Given the description of an element on the screen output the (x, y) to click on. 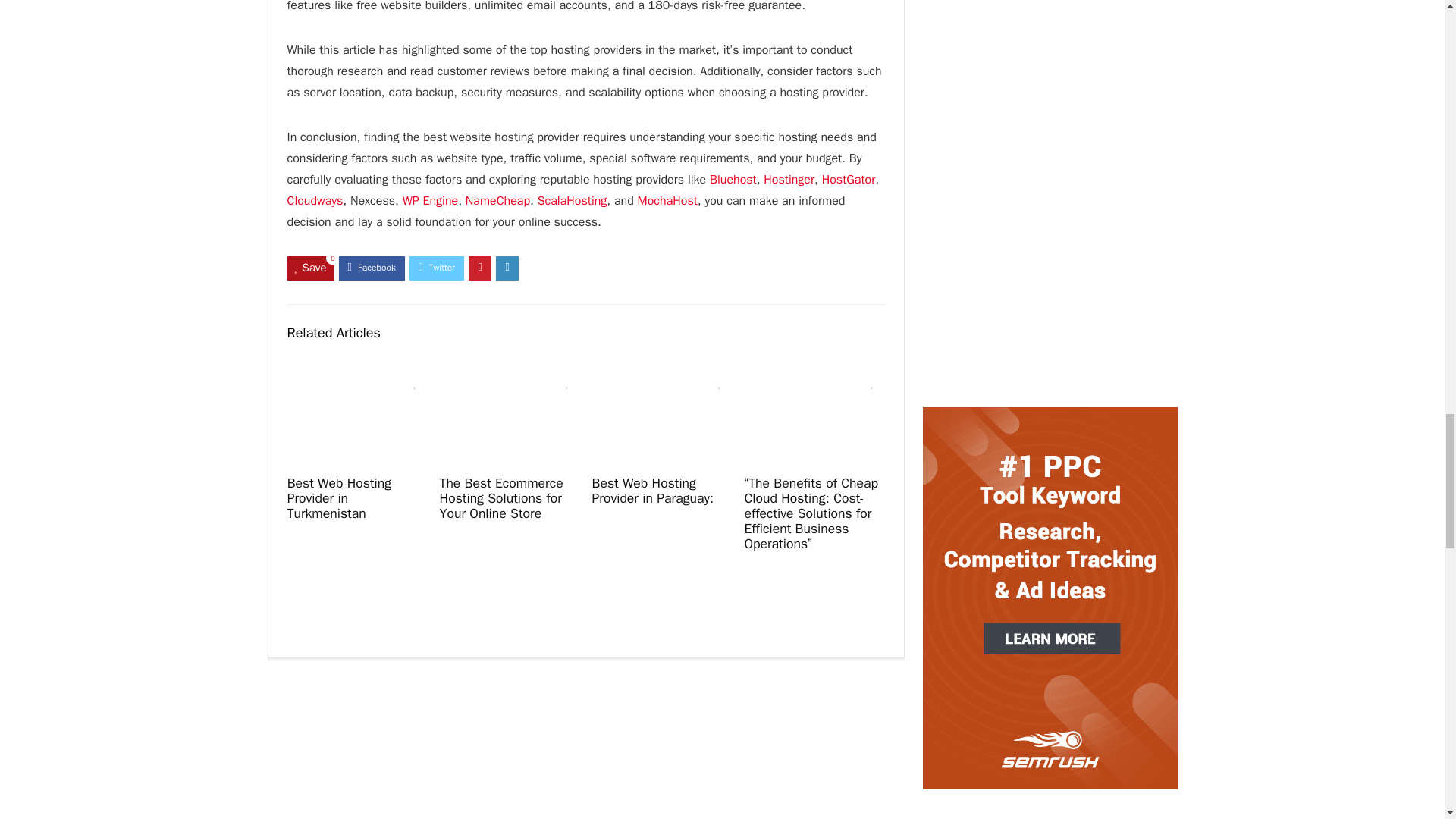
Advertisement (1048, 817)
Advertisement (1048, 70)
Advertisement (1048, 274)
